Given the description of an element on the screen output the (x, y) to click on. 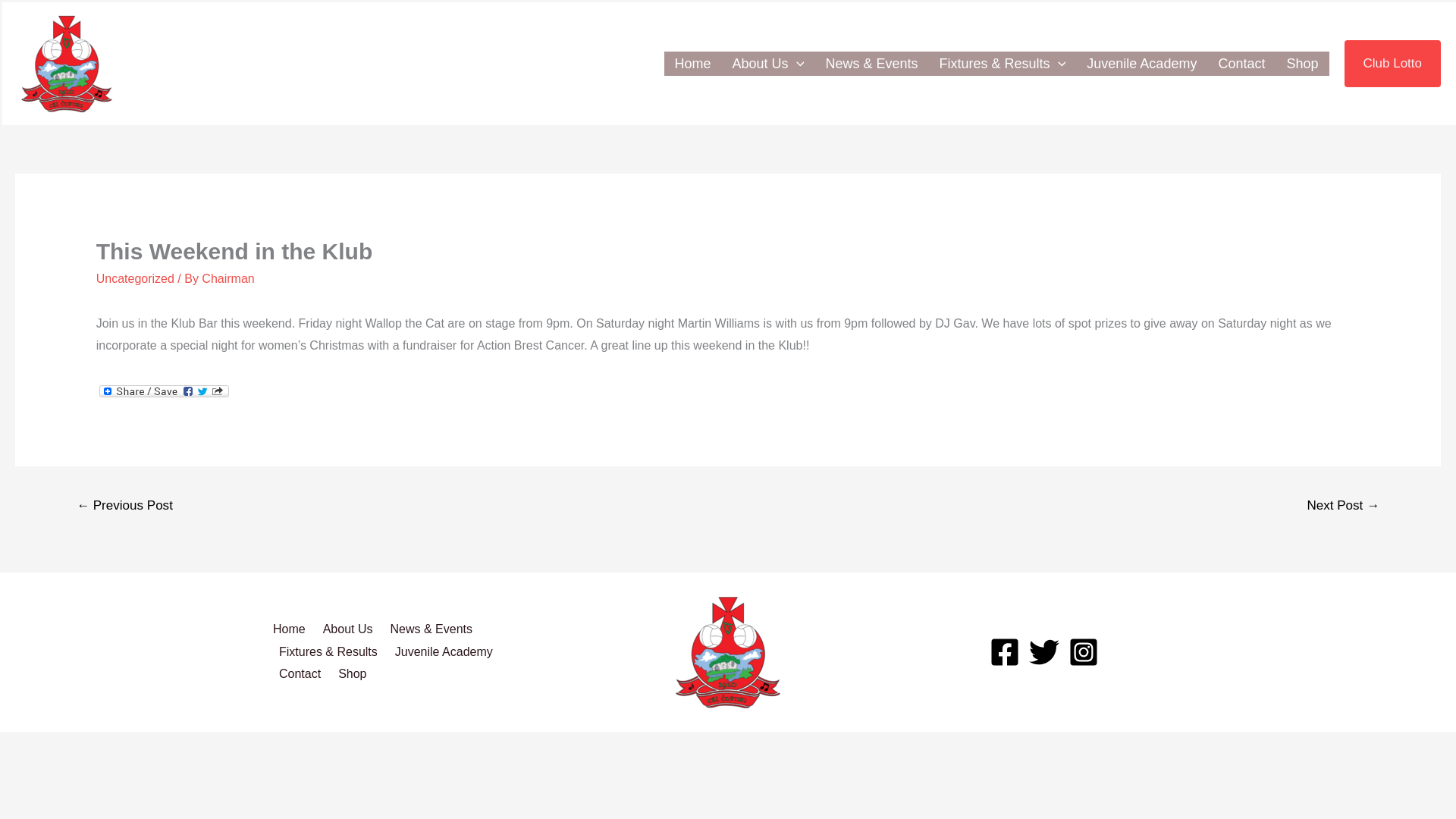
Club Lotto (1392, 63)
View all posts by Chairman (227, 278)
Juvenile Academy (1141, 63)
About Us (768, 63)
Contact (1241, 63)
Home (692, 63)
Shop (1301, 63)
